Given the description of an element on the screen output the (x, y) to click on. 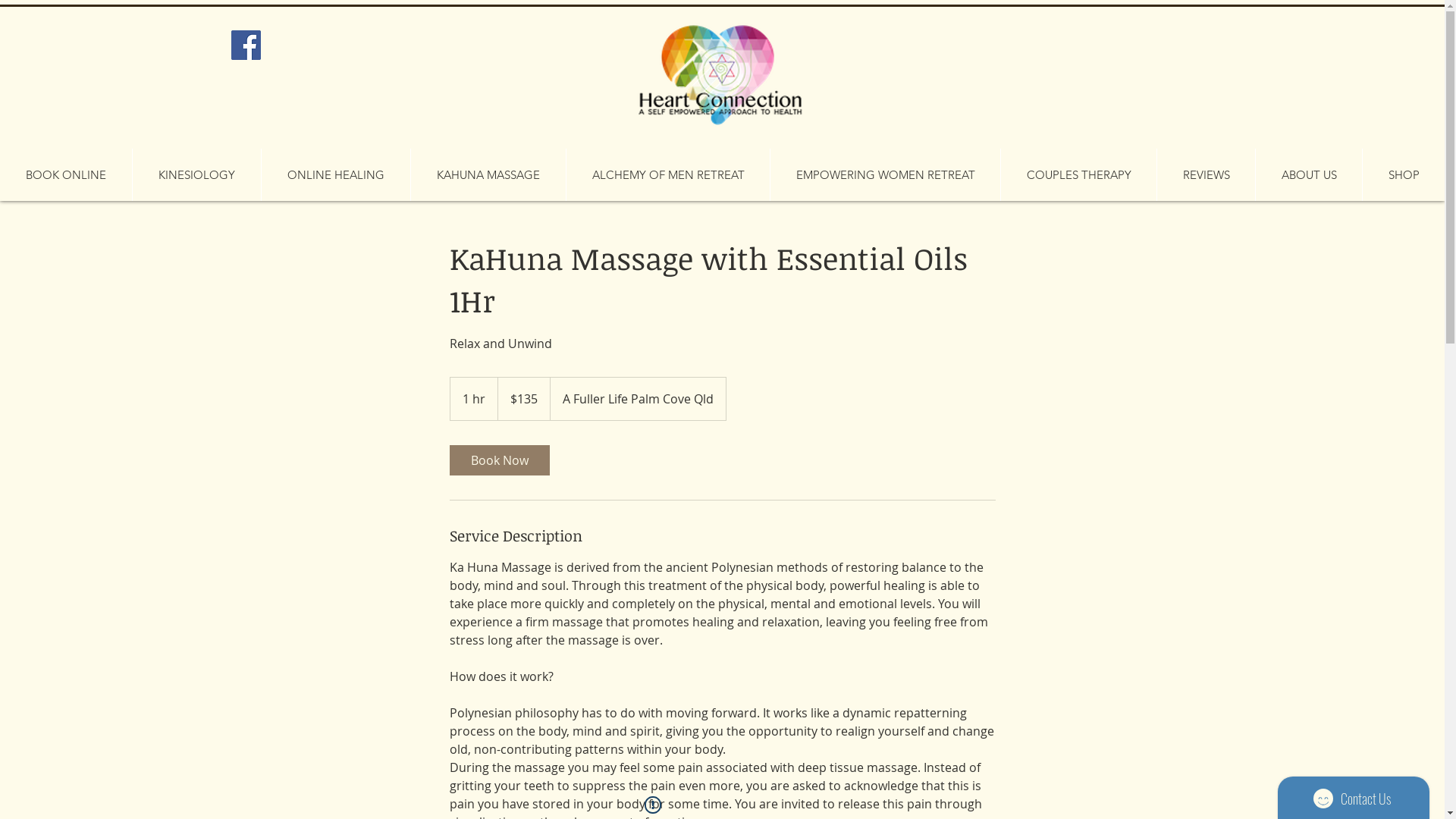
REVIEWS Element type: text (1205, 174)
ABOUT US Element type: text (1308, 174)
ALCHEMY OF MEN RETREAT Element type: text (667, 174)
BOOK ONLINE Element type: text (65, 174)
SHOP Element type: text (1402, 174)
KAHUNA MASSAGE Element type: text (487, 174)
ONLINE HEALING Element type: text (335, 174)
EMPOWERING WOMEN RETREAT Element type: text (884, 174)
COUPLES THERAPY Element type: text (1078, 174)
Book Now Element type: text (498, 460)
KINESIOLOGY Element type: text (195, 174)
